Given the description of an element on the screen output the (x, y) to click on. 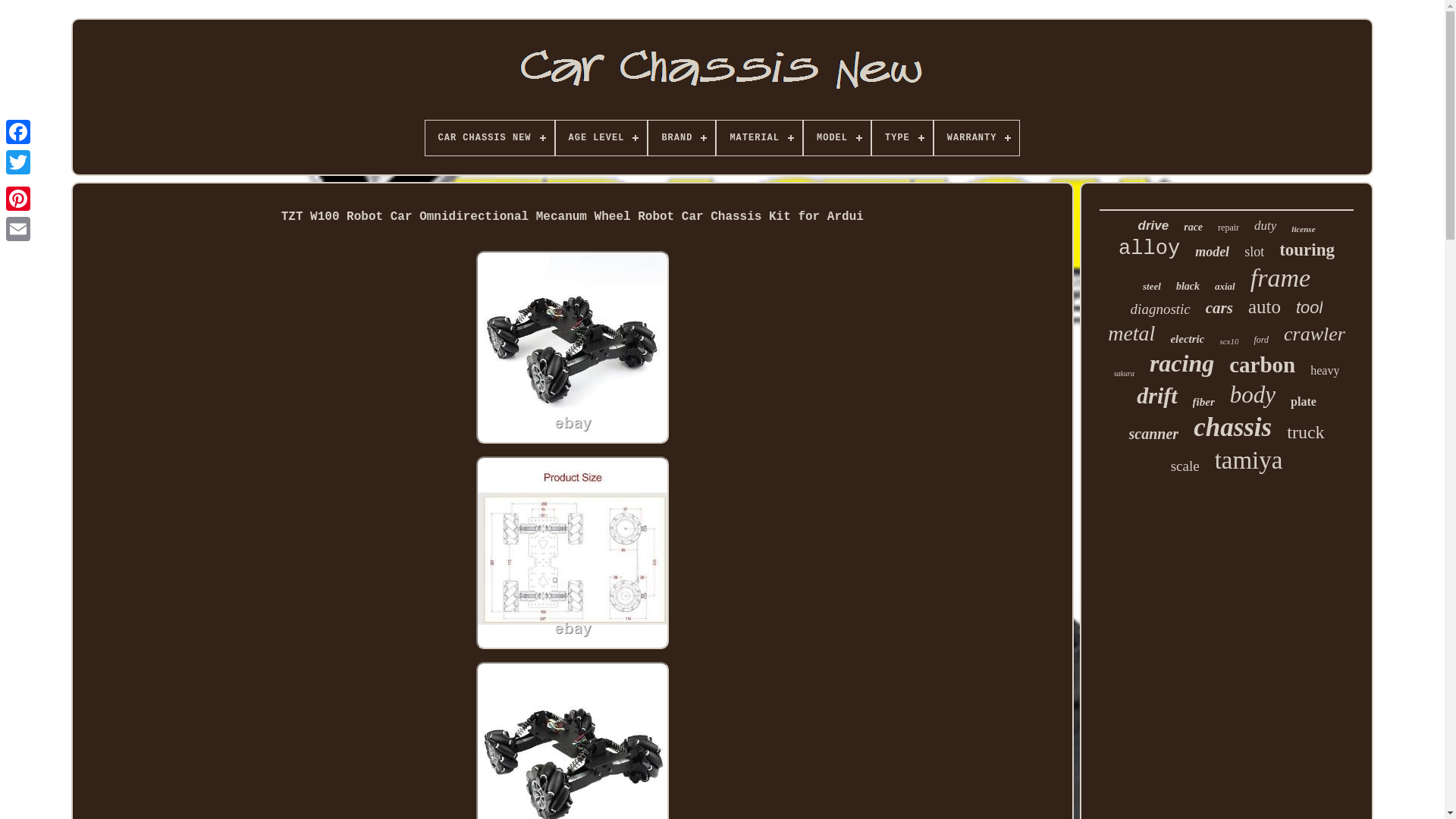
BRAND (680, 137)
CAR CHASSIS NEW (489, 137)
AGE LEVEL (601, 137)
